Given the description of an element on the screen output the (x, y) to click on. 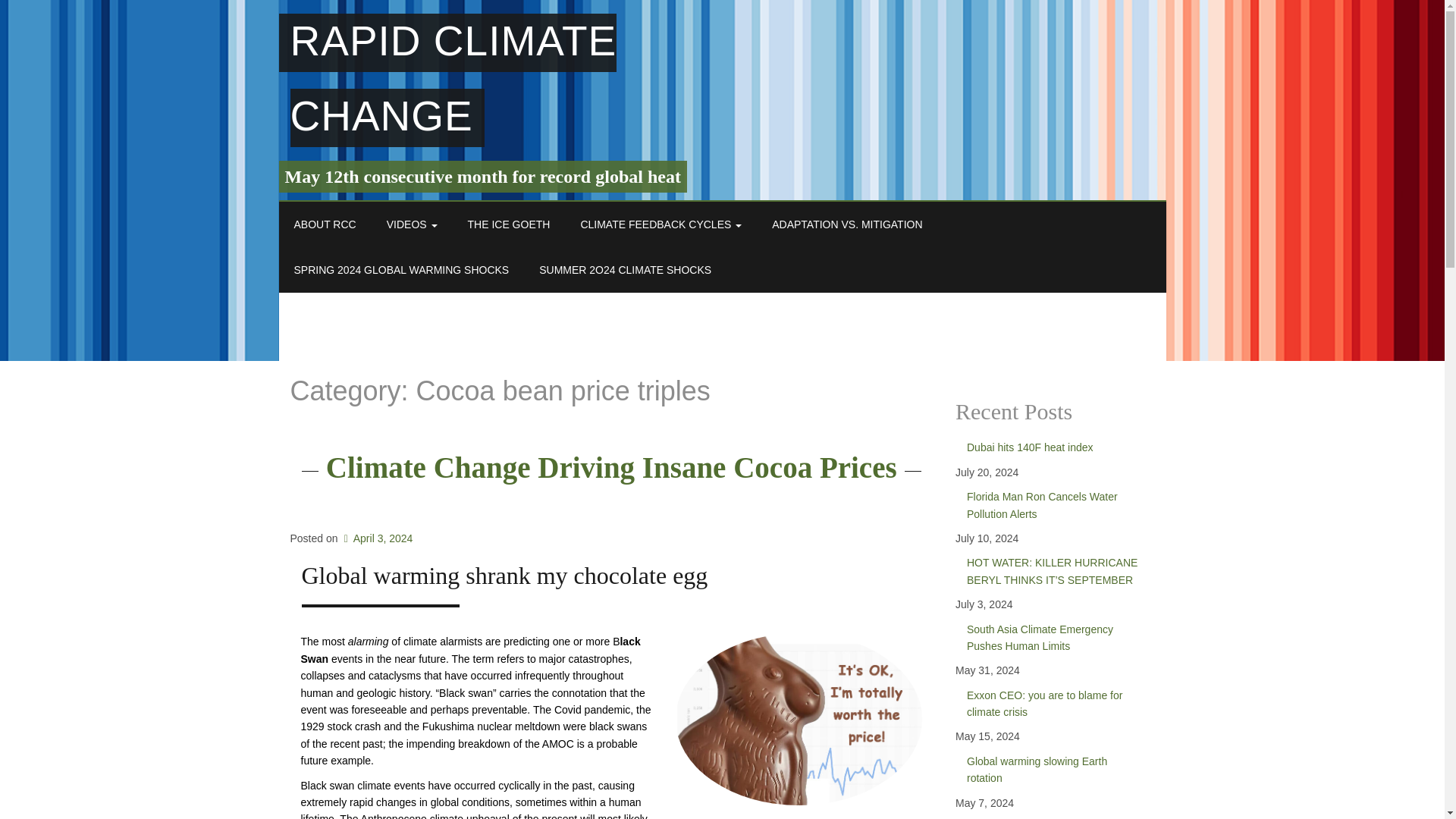
RAPID CLIMATE CHANGE (448, 80)
Exxon CEO: you are to blame for climate crisis (1054, 703)
Florida Man Ron Cancels Water Pollution Alerts (1054, 504)
SPRING 2024 GLOBAL WARMING SHOCKS (401, 269)
ABOUT RCC (325, 224)
VIDEOS (411, 224)
Florida GOP Bans Climate Change (1054, 815)
Dubai hits 140F heat index (1054, 447)
SUMMER 2O24 CLIMATE SHOCKS (625, 269)
CLIMATE FEEDBACK CYCLES (660, 224)
Global warming slowing Earth rotation (1054, 769)
Climate Change Driving Insane Cocoa Prices (611, 467)
ADAPTATION VS. MITIGATION (847, 224)
South Asia Climate Emergency Pushes Human Limits (1054, 637)
April 3, 2024 (376, 538)
